Given the description of an element on the screen output the (x, y) to click on. 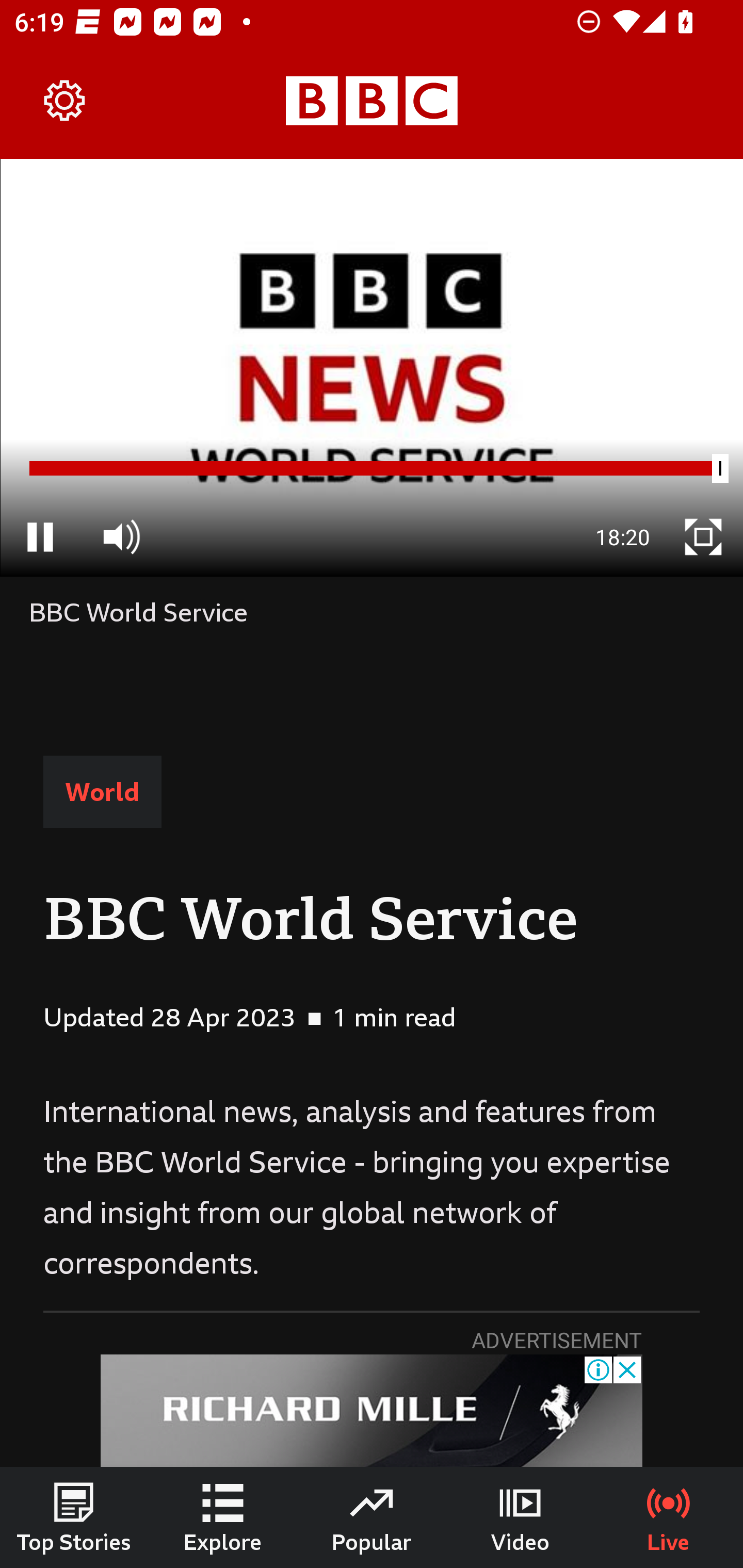
Settings (64, 100)
volume (121, 537)
enter fullscreen (703, 537)
World (102, 791)
Top Stories (74, 1517)
Explore (222, 1517)
Popular (371, 1517)
Video (519, 1517)
